Given the description of an element on the screen output the (x, y) to click on. 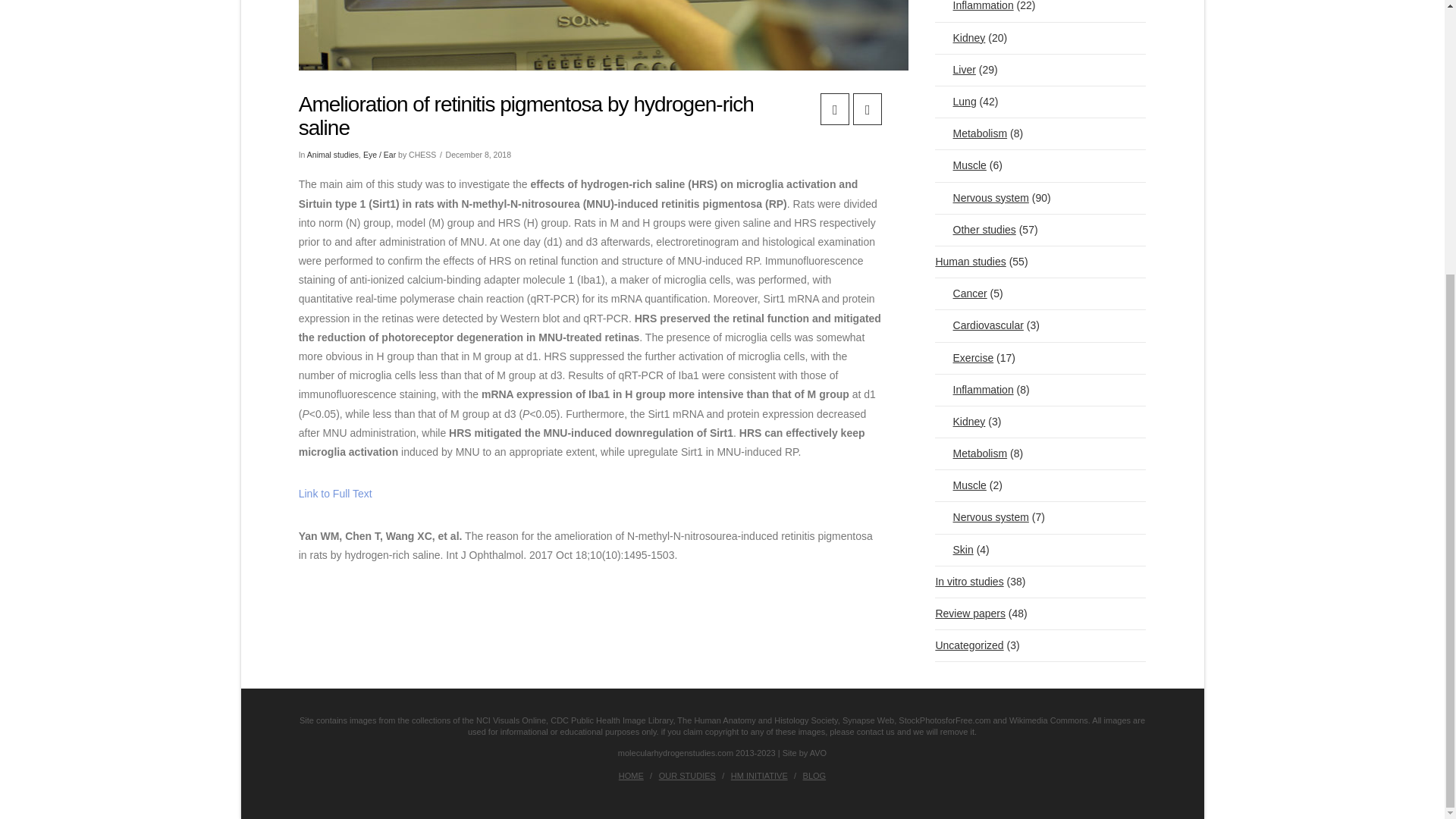
Other studies (974, 229)
Kidney (959, 421)
Nervous system (981, 517)
Metabolism (970, 133)
Animal studies (332, 153)
Exercise (963, 358)
Kidney (959, 38)
Skin (953, 549)
Lung (954, 101)
Home (630, 775)
Liver (954, 69)
Muscle (960, 485)
Nervous system (981, 197)
Cancer (960, 293)
Inflammation (973, 10)
